Given the description of an element on the screen output the (x, y) to click on. 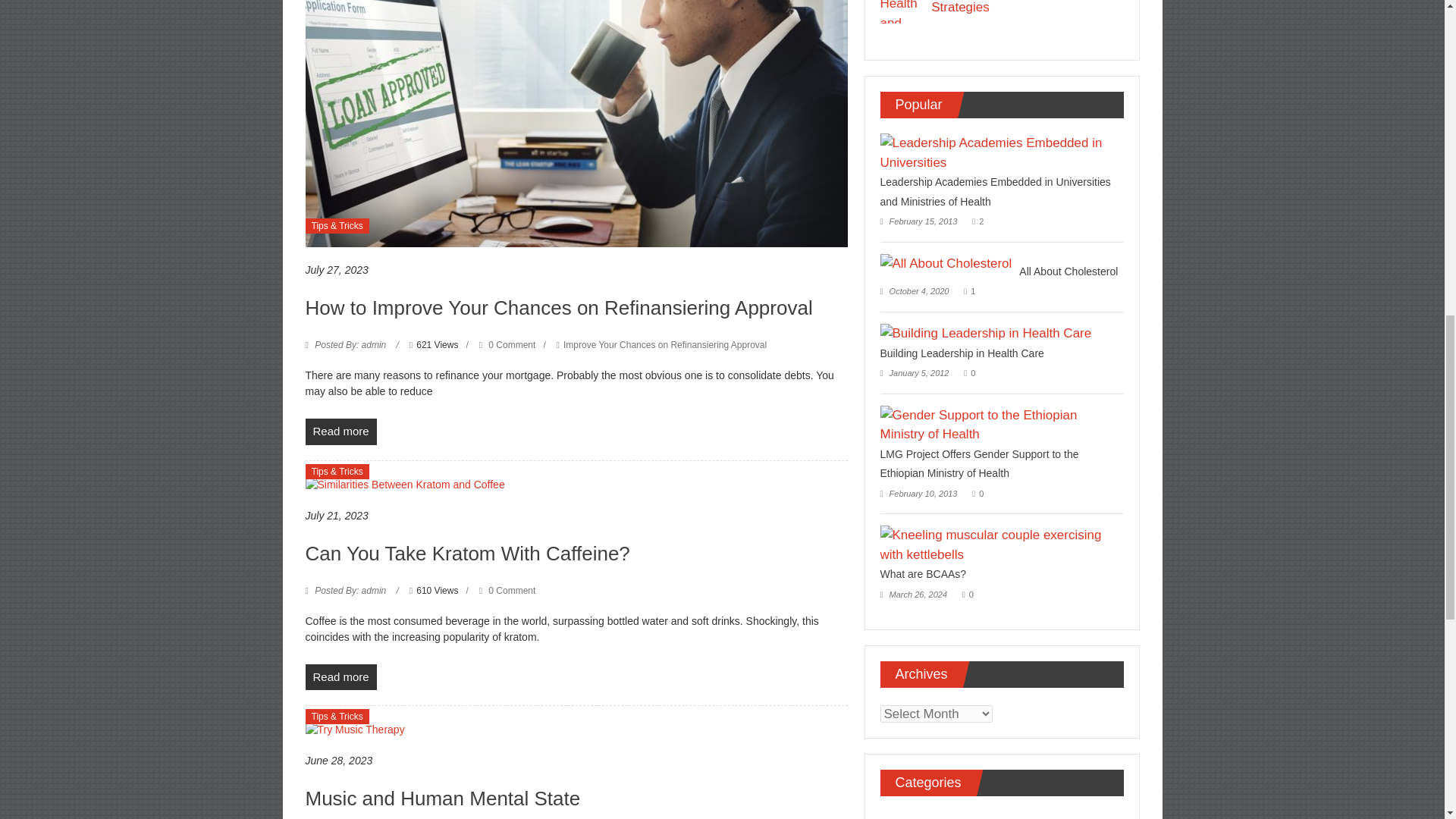
How to Improve Your Chances on Refinansiering Approval (558, 307)
July 27, 2023 (336, 270)
Posted By: admin (350, 344)
0 Comment (507, 344)
Read more (339, 677)
How to Improve Your Chances on Refinansiering Approval (575, 94)
5:30 pm (336, 515)
Improve Your Chances on Refinansiering Approval (665, 344)
10:50 am (336, 270)
Read more (339, 431)
Can You Take Kratom With Caffeine? (403, 483)
Posted By: admin (350, 590)
July 21, 2023 (336, 515)
Can You Take Kratom With Caffeine? (466, 553)
admin (350, 344)
